Given the description of an element on the screen output the (x, y) to click on. 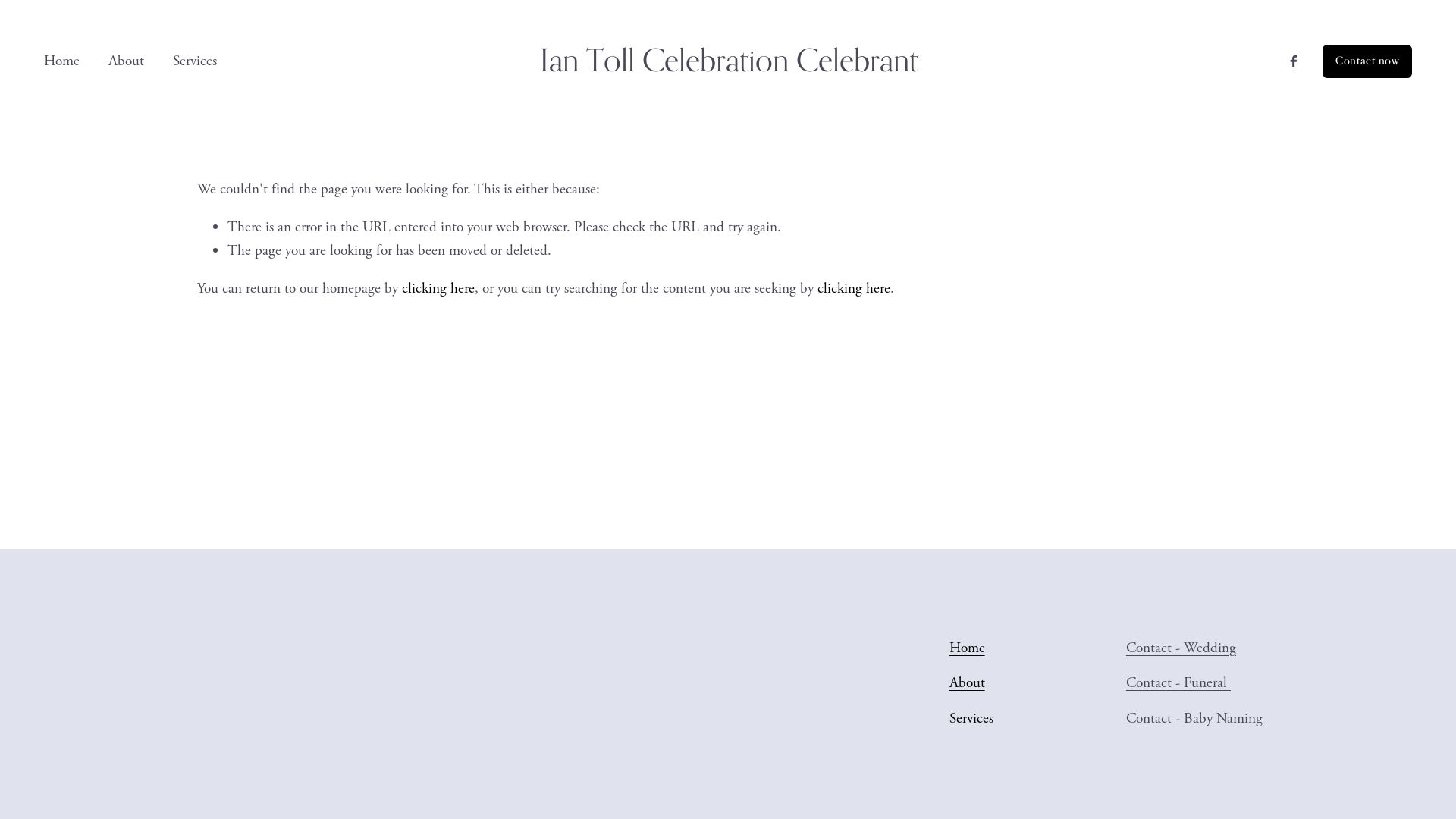
clicking here Element type: text (853, 288)
Home Element type: text (61, 61)
Contact - Funeral  Element type: text (1178, 683)
About Element type: text (126, 61)
Services Element type: text (194, 61)
Home Element type: text (967, 648)
Ian Toll Celebration Celebrant Element type: text (728, 61)
Contact - Wedding Element type: text (1181, 648)
clicking here Element type: text (437, 288)
Services Element type: text (971, 719)
About Element type: text (967, 683)
Contact now Element type: text (1367, 60)
Contact - Baby Naming Element type: text (1194, 719)
